Given the description of an element on the screen output the (x, y) to click on. 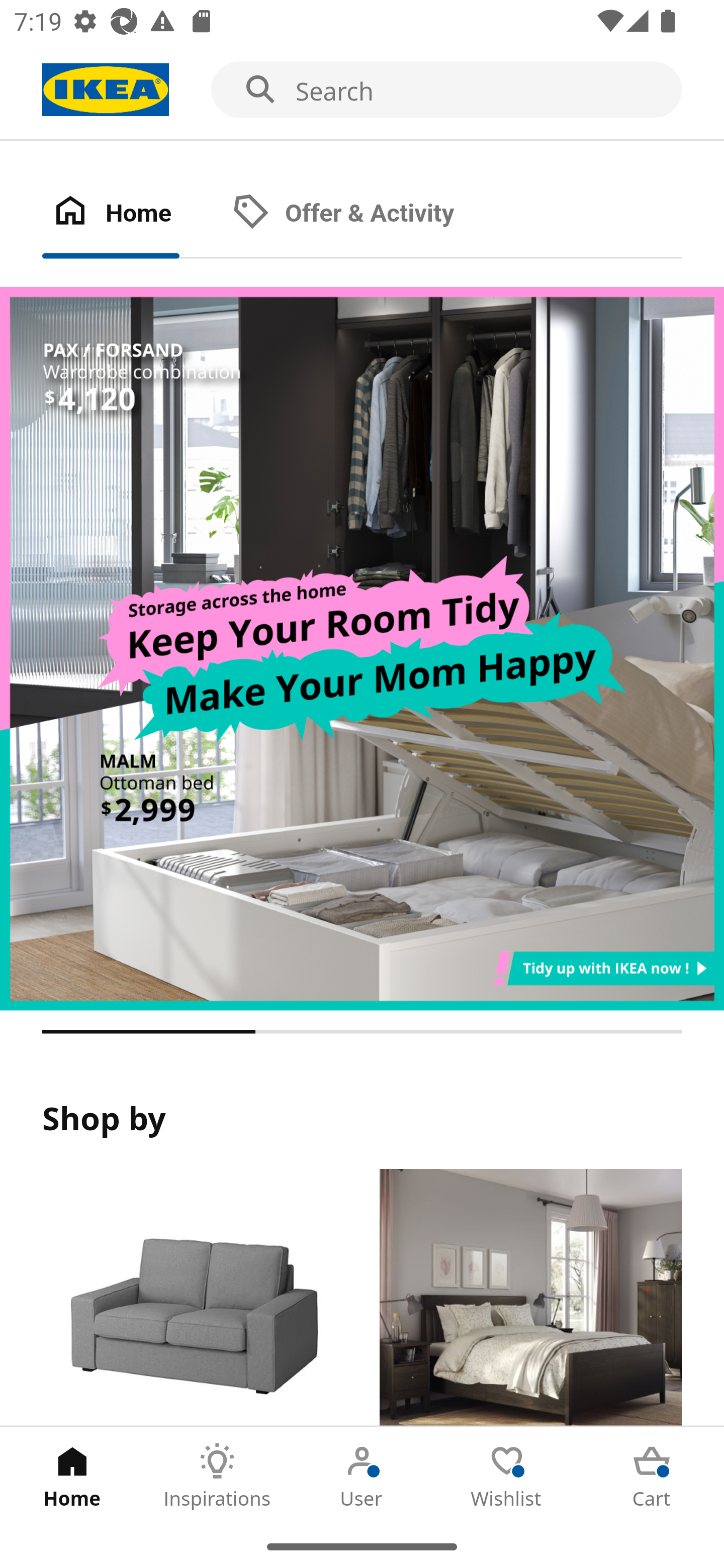
Search (361, 90)
Home
Tab 1 of 2 (131, 213)
Offer & Activity
Tab 2 of 2 (363, 213)
Products (192, 1297)
Rooms (530, 1297)
Home
Tab 1 of 5 (72, 1476)
Inspirations
Tab 2 of 5 (216, 1476)
User
Tab 3 of 5 (361, 1476)
Wishlist
Tab 4 of 5 (506, 1476)
Cart
Tab 5 of 5 (651, 1476)
